Given the description of an element on the screen output the (x, y) to click on. 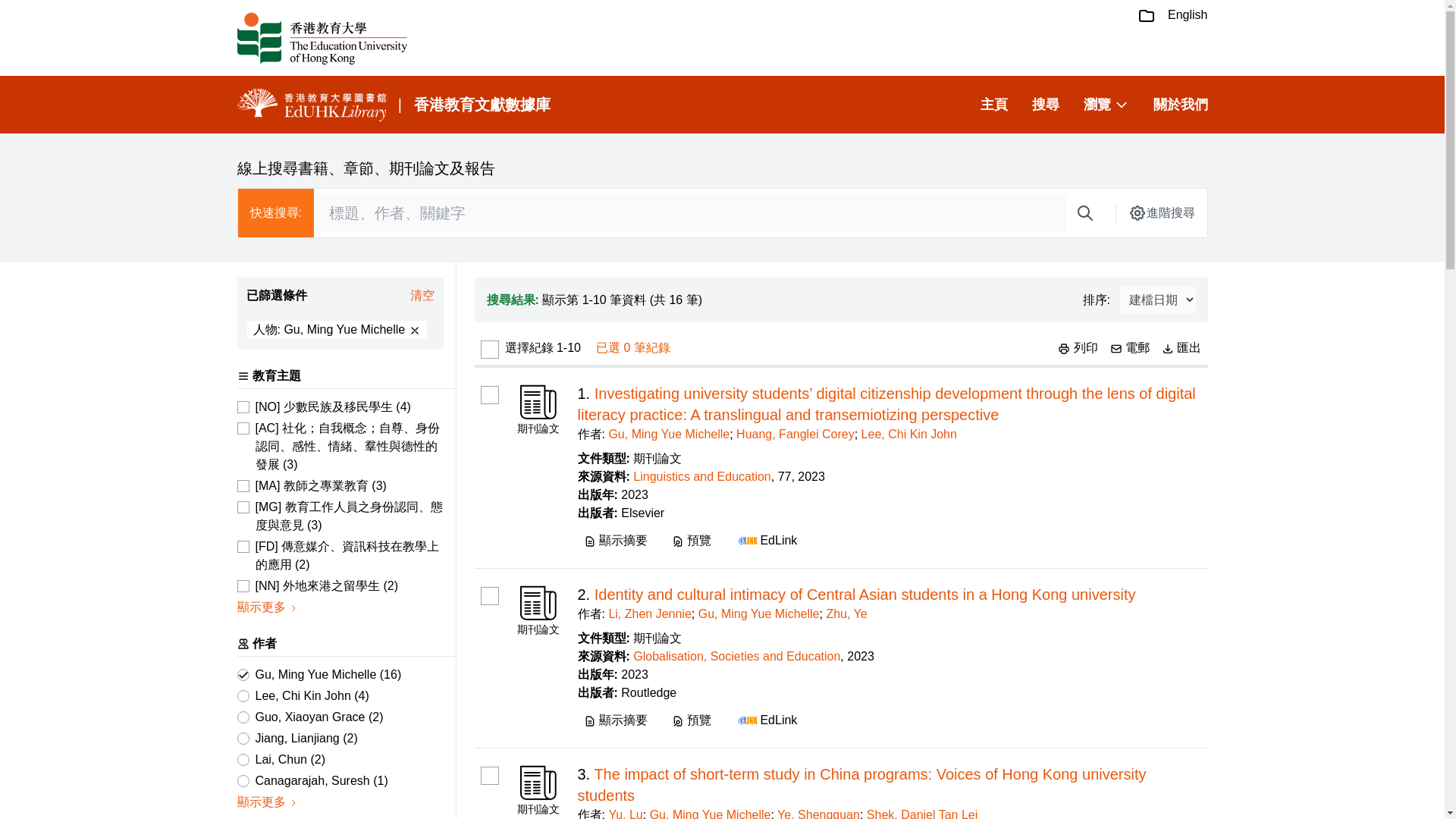
Gu, Ming Yue Michelle (668, 433)
English (1187, 14)
Lee, Chi Kin John (908, 433)
Huang, Fanglei Corey (795, 433)
